Given the description of an element on the screen output the (x, y) to click on. 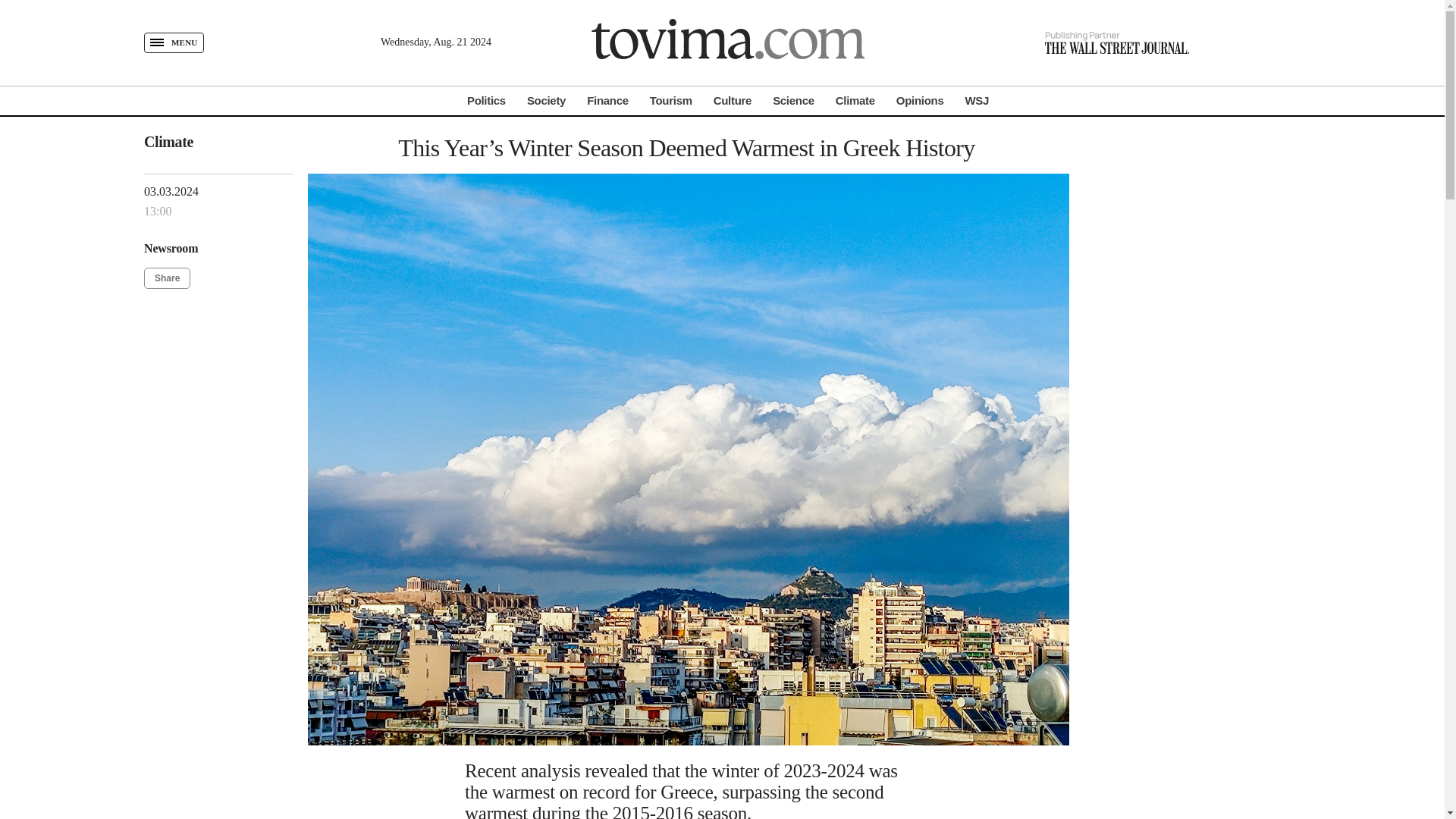
Society (546, 100)
WSJ (975, 100)
tovima.com (727, 42)
Climate (168, 141)
Climate (855, 100)
Culture (732, 100)
Science (793, 100)
Politics (486, 100)
Opinions (919, 100)
Finance (607, 100)
